Given the description of an element on the screen output the (x, y) to click on. 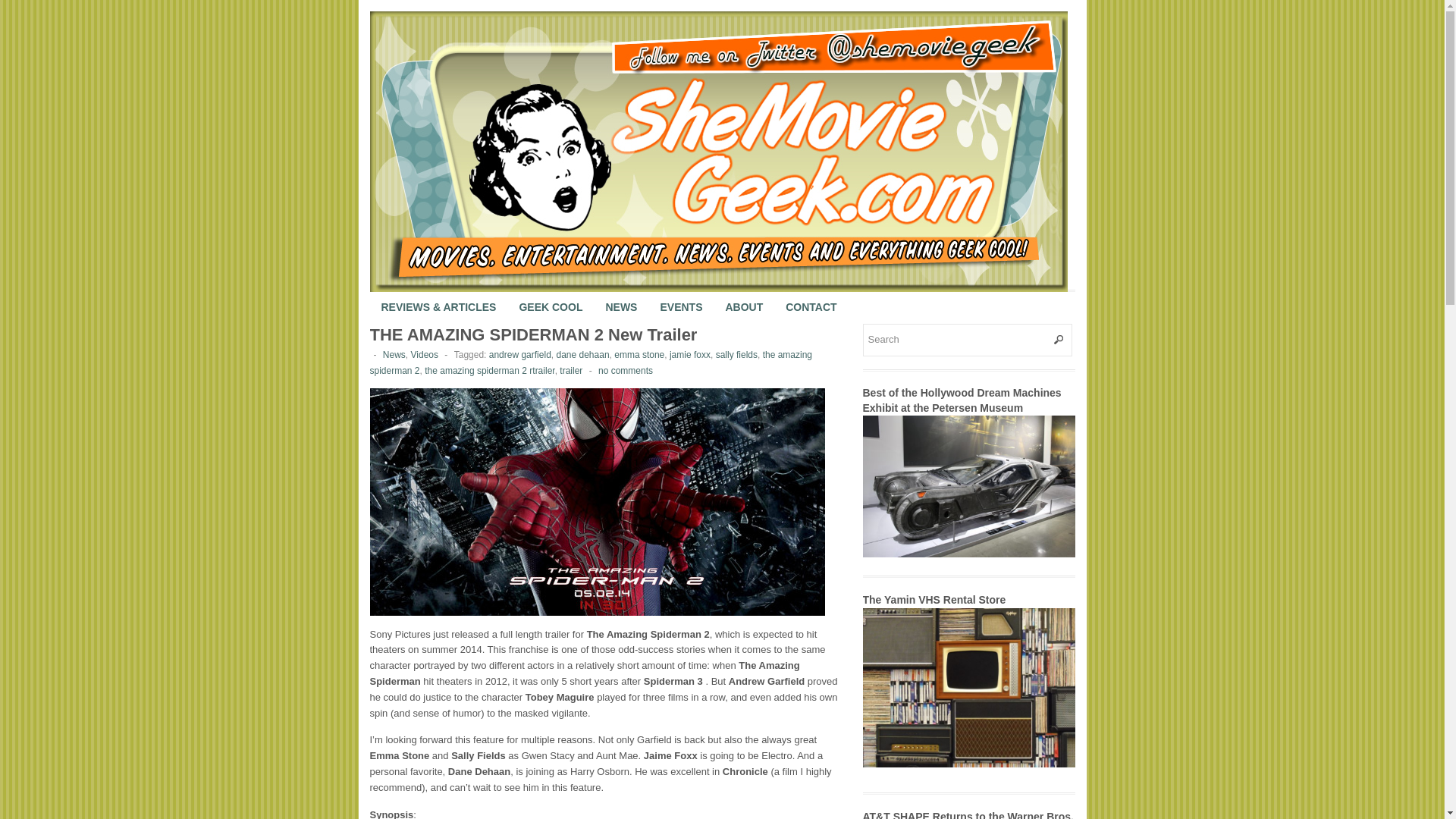
NEWS (620, 296)
Search (967, 339)
emma stone (638, 354)
trailer (570, 370)
CONTACT (810, 296)
jamie foxx (689, 354)
Videos (424, 354)
GEEK COOL (550, 296)
sally fields (736, 354)
EVENTS (680, 296)
the amazing spiderman 2 (590, 362)
the amazing spiderman 2 rtrailer (489, 370)
dane dehaan (582, 354)
no comments (625, 370)
